Given the description of an element on the screen output the (x, y) to click on. 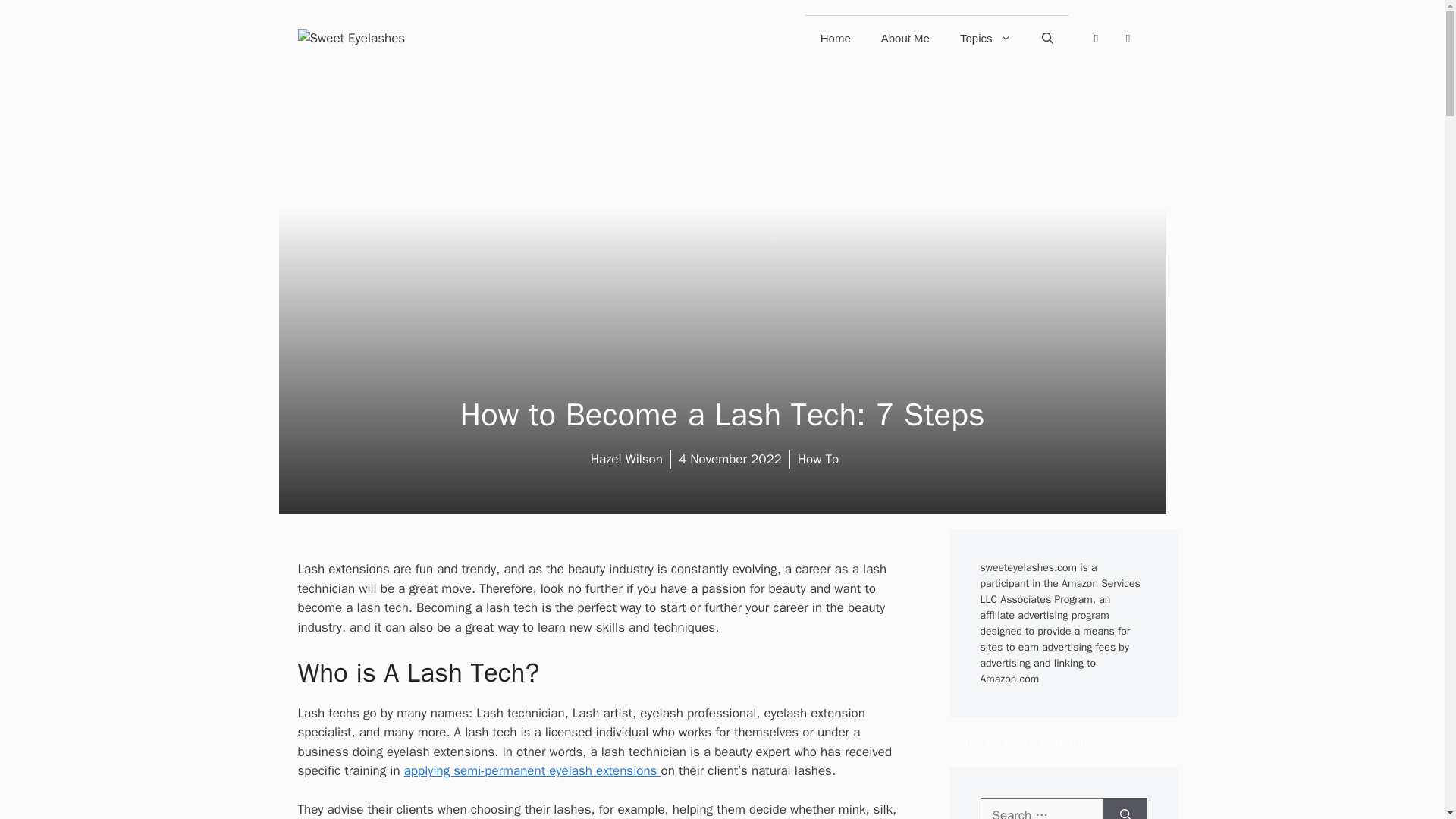
About Me (905, 38)
Home (835, 38)
applying semi-permanent eyelash extensions (532, 770)
Facebook (1095, 38)
Twitter (1127, 38)
Sweet Eyelashes (350, 38)
Search for: (1041, 808)
Sweet Eyelashes (350, 37)
Topics (985, 38)
